Given the description of an element on the screen output the (x, y) to click on. 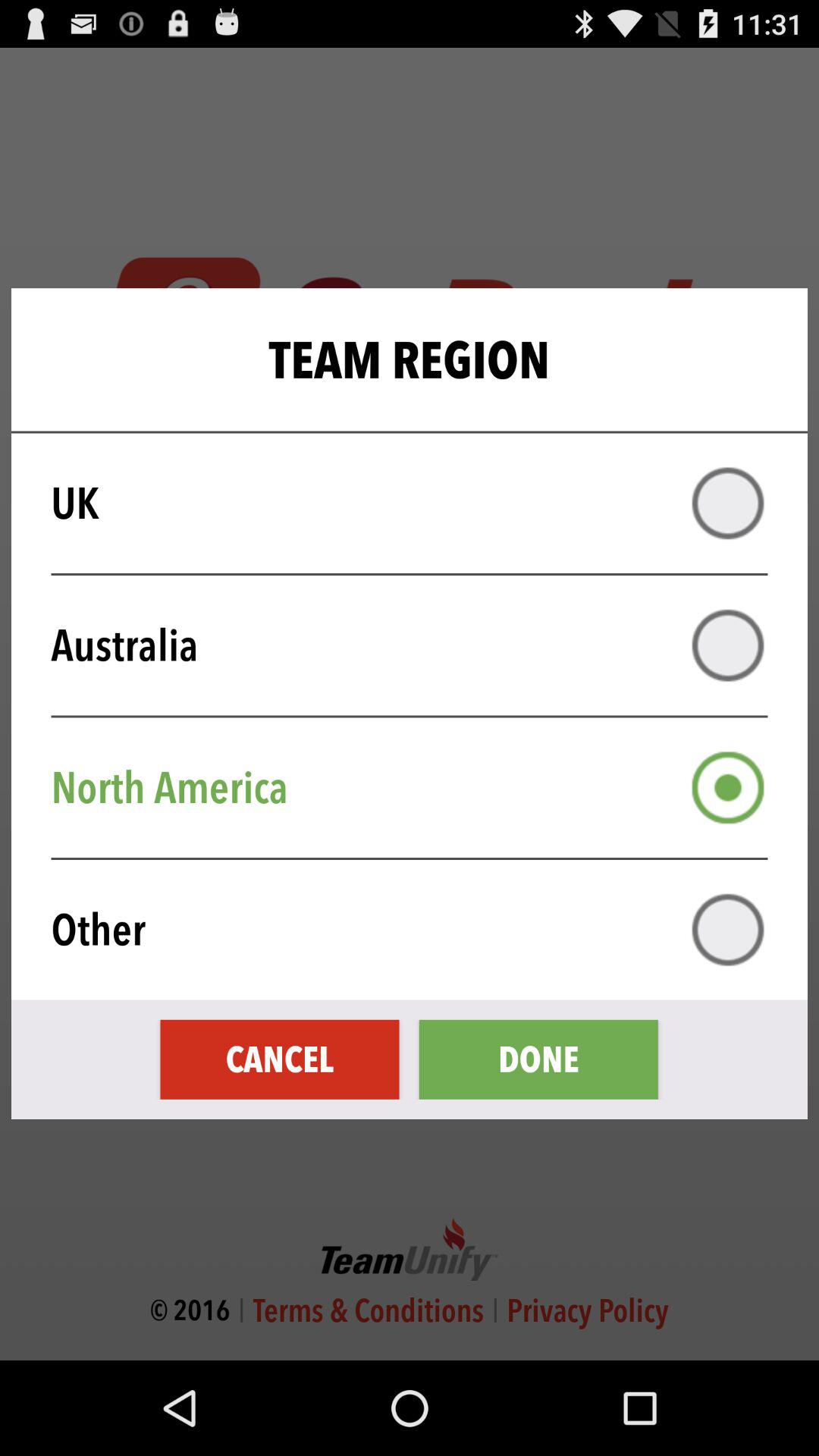
press the cancel icon (279, 1059)
